Given the description of an element on the screen output the (x, y) to click on. 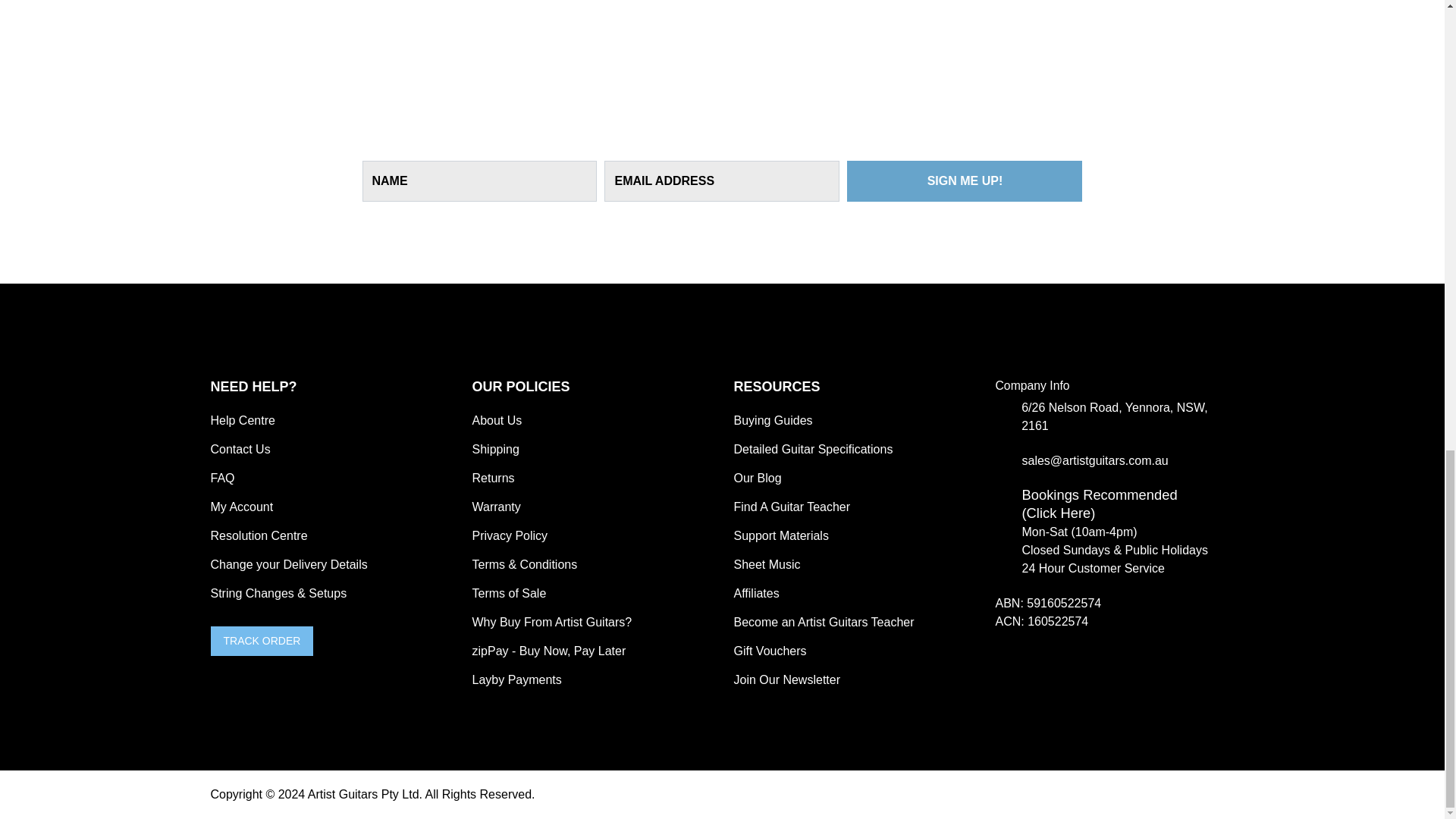
Resources (852, 387)
NAME (479, 180)
Need Help? (330, 387)
EMAIL ADDRESS (722, 180)
Our Policies (590, 387)
